Given the description of an element on the screen output the (x, y) to click on. 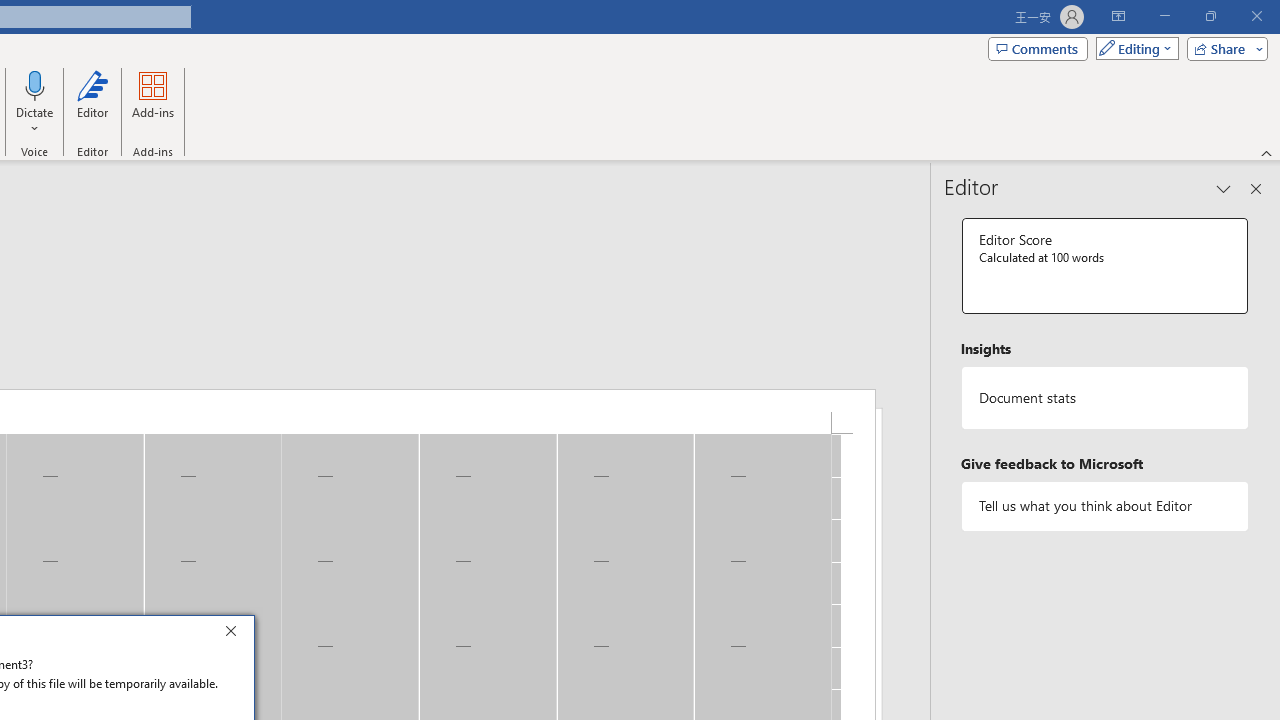
Ribbon Display Options (1118, 16)
Dictate (35, 84)
Minimize (1164, 16)
Tell us what you think about Editor (1105, 506)
Document statistics (1105, 398)
Editor (92, 102)
Dictate (35, 102)
Task Pane Options (1224, 188)
Collapse the Ribbon (1267, 152)
Mode (1133, 47)
Comments (1038, 48)
More Options (35, 121)
Close pane (1256, 188)
